Given the description of an element on the screen output the (x, y) to click on. 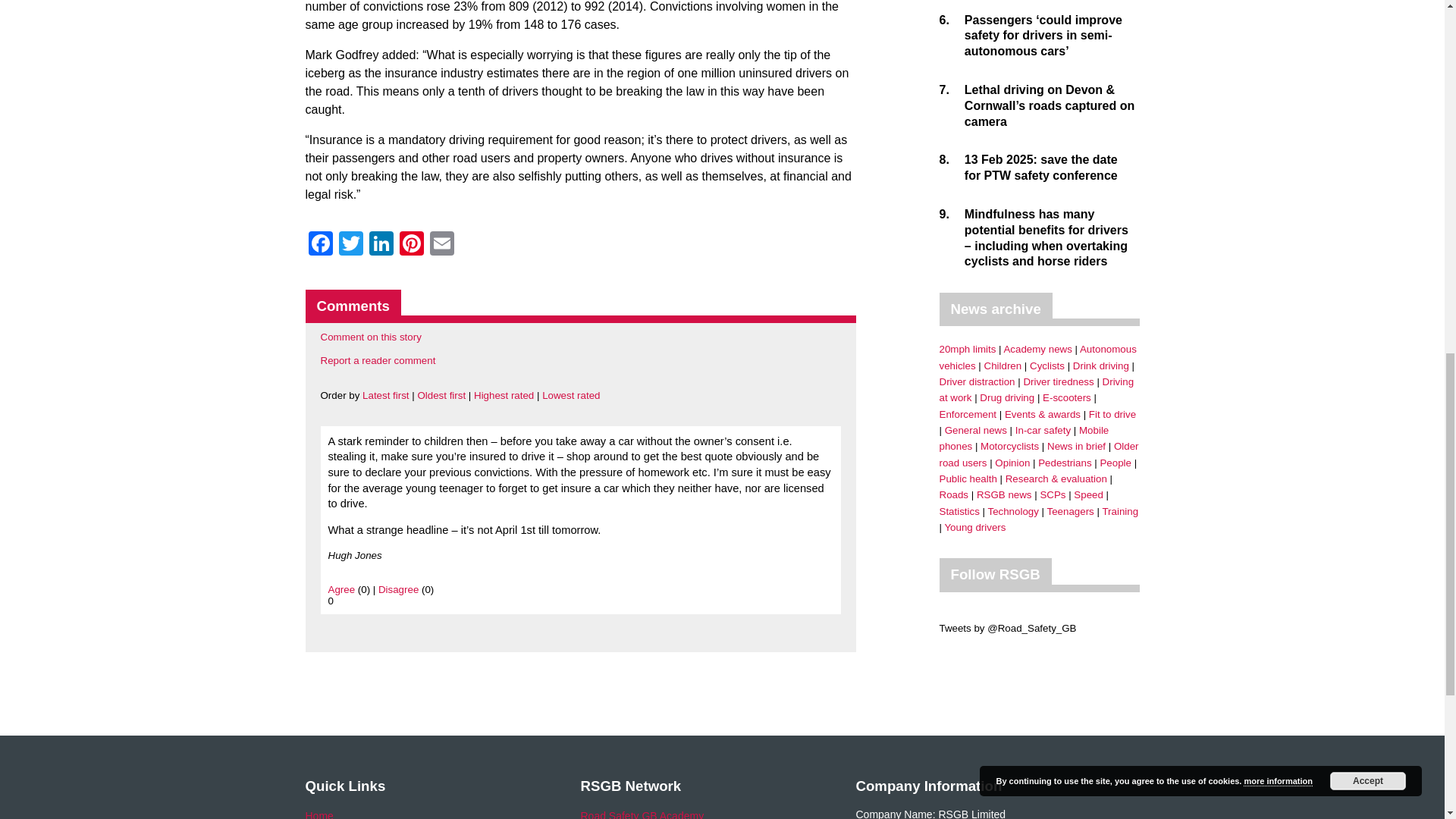
LinkedIn (380, 244)
Pinterest (411, 244)
Twitter (349, 244)
Facebook (319, 244)
Email (441, 244)
